Given the description of an element on the screen output the (x, y) to click on. 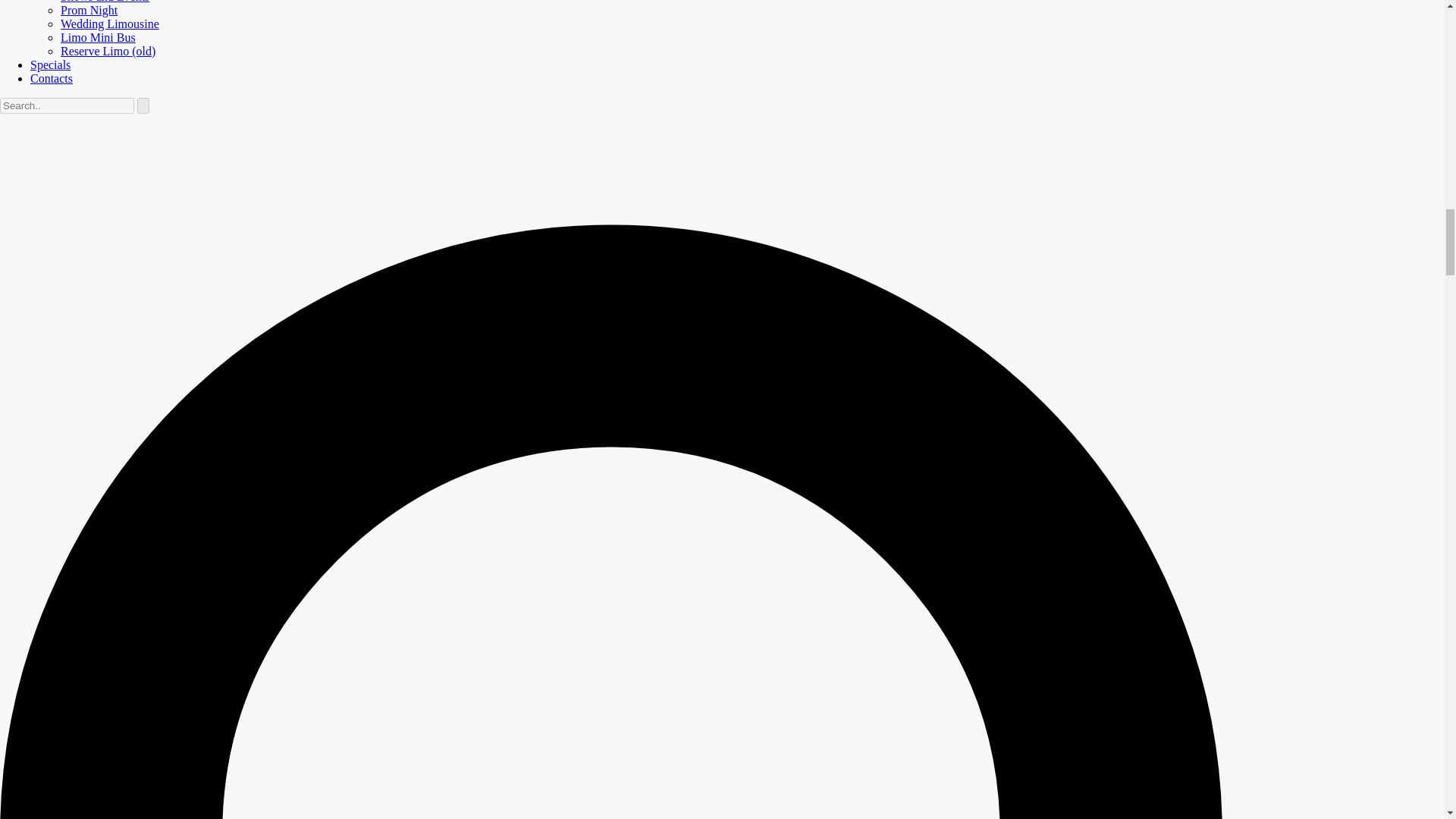
Prom Night (89, 10)
Limo Mini Bus (98, 37)
Specials (49, 64)
Contacts (51, 78)
Shows and Events (105, 1)
Wedding Limousine (109, 23)
